Given the description of an element on the screen output the (x, y) to click on. 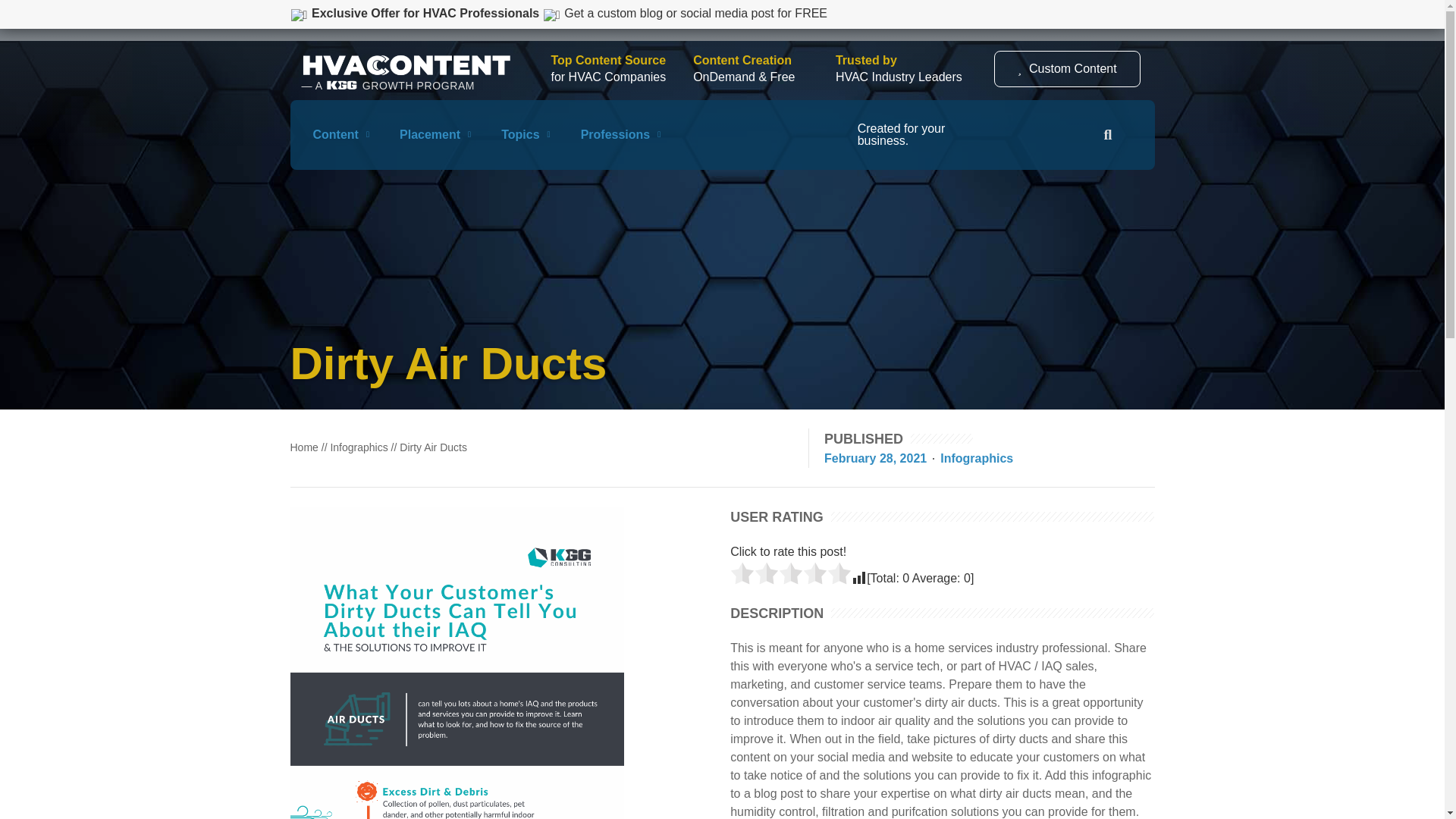
Content (341, 134)
Custom Content (1067, 68)
Professions (620, 134)
Placement (434, 134)
